Given the description of an element on the screen output the (x, y) to click on. 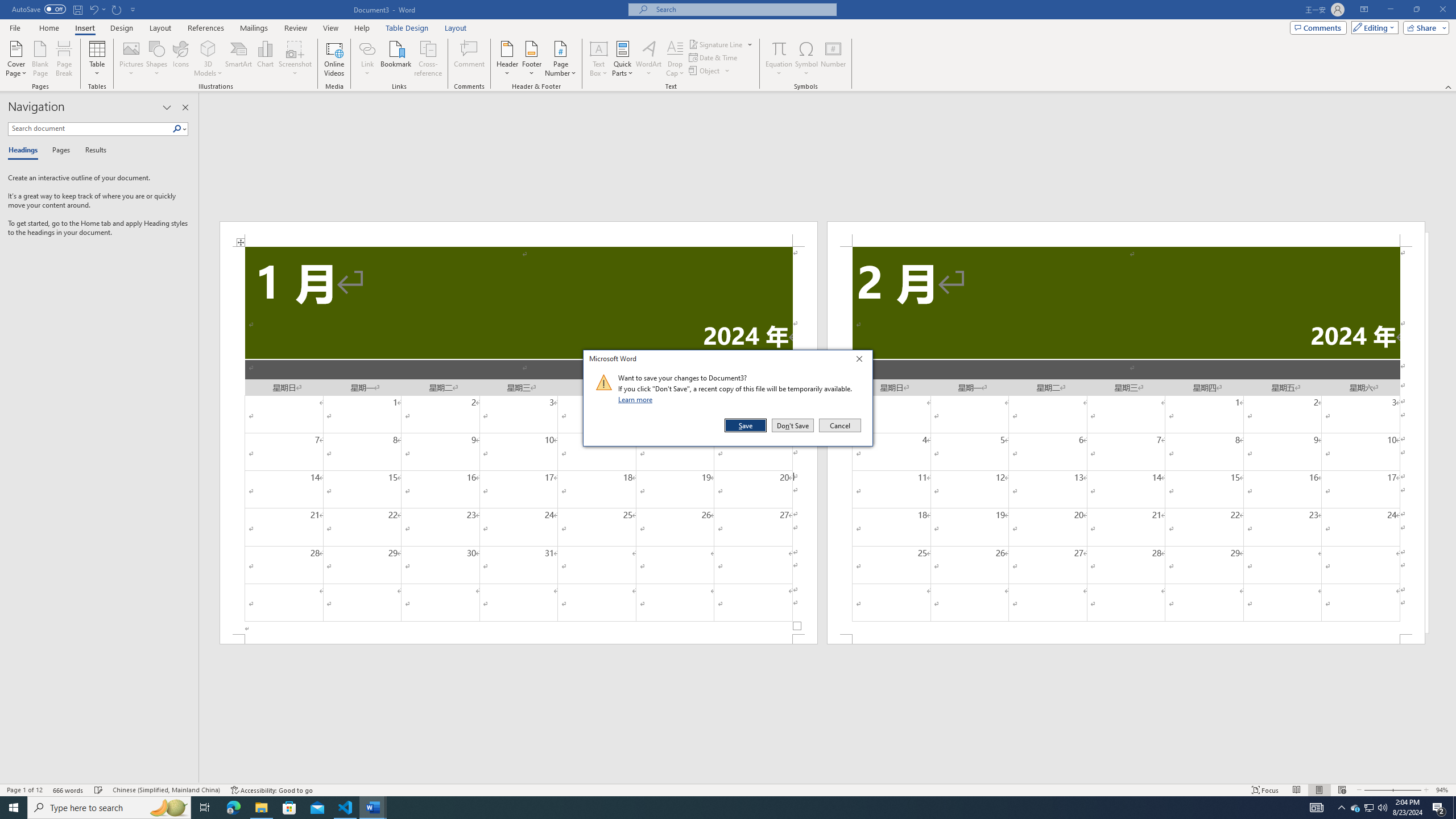
Object... (709, 69)
Quick Parts (622, 58)
Icons (180, 58)
Drop Cap (674, 58)
Footer -Section 2- (1126, 638)
Footer (531, 58)
